Given the description of an element on the screen output the (x, y) to click on. 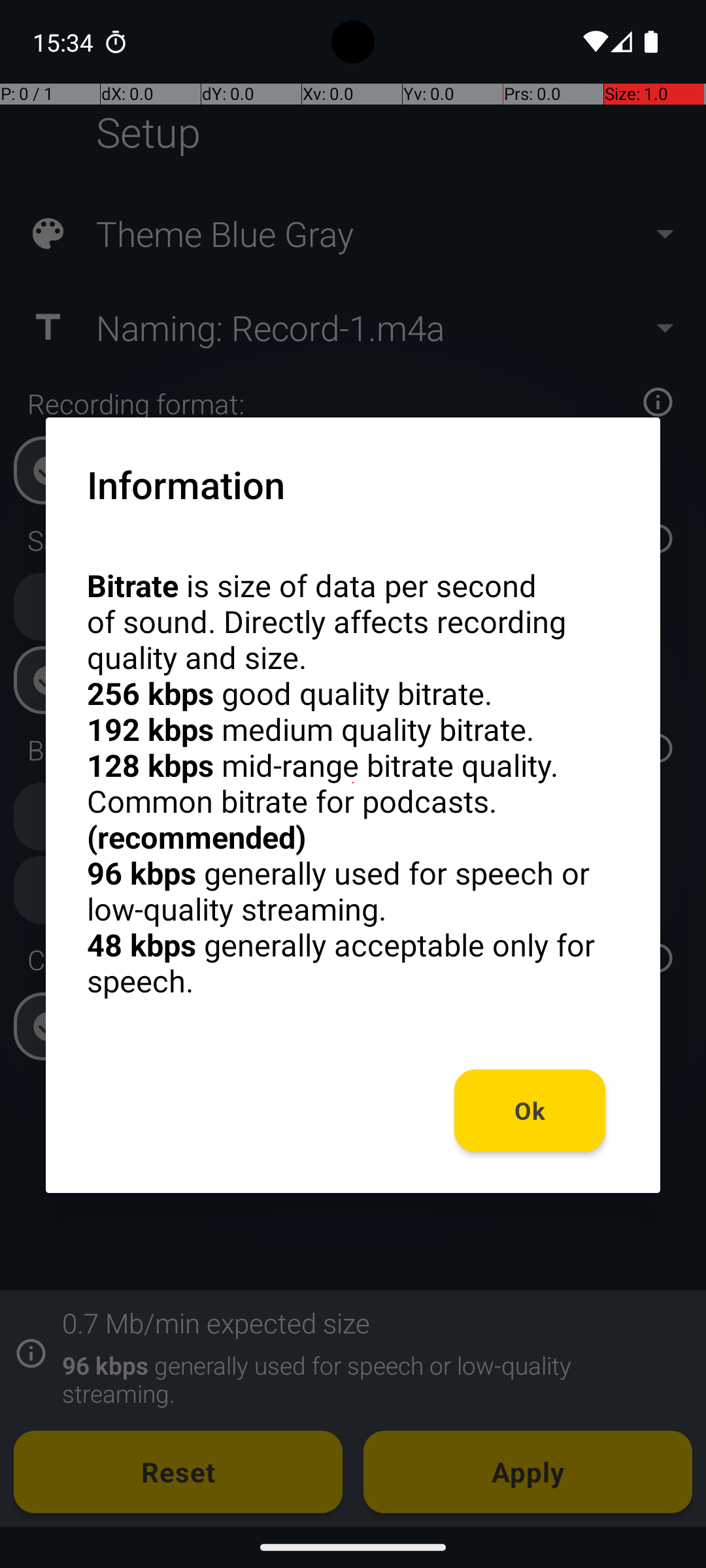
Bitrate is size of data per second of sound. Directly affects recording quality and size. 
256 kbps good quality bitrate. 
192 kbps medium quality bitrate. 
128 kbps mid-range bitrate quality. Common bitrate for podcasts. (recommended) 
96 kbps generally used for speech or low-quality streaming. 
48 kbps generally acceptable only for speech.  Element type: android.widget.TextView (352, 782)
Wifi signal full. Element type: android.widget.FrameLayout (593, 41)
